Given the description of an element on the screen output the (x, y) to click on. 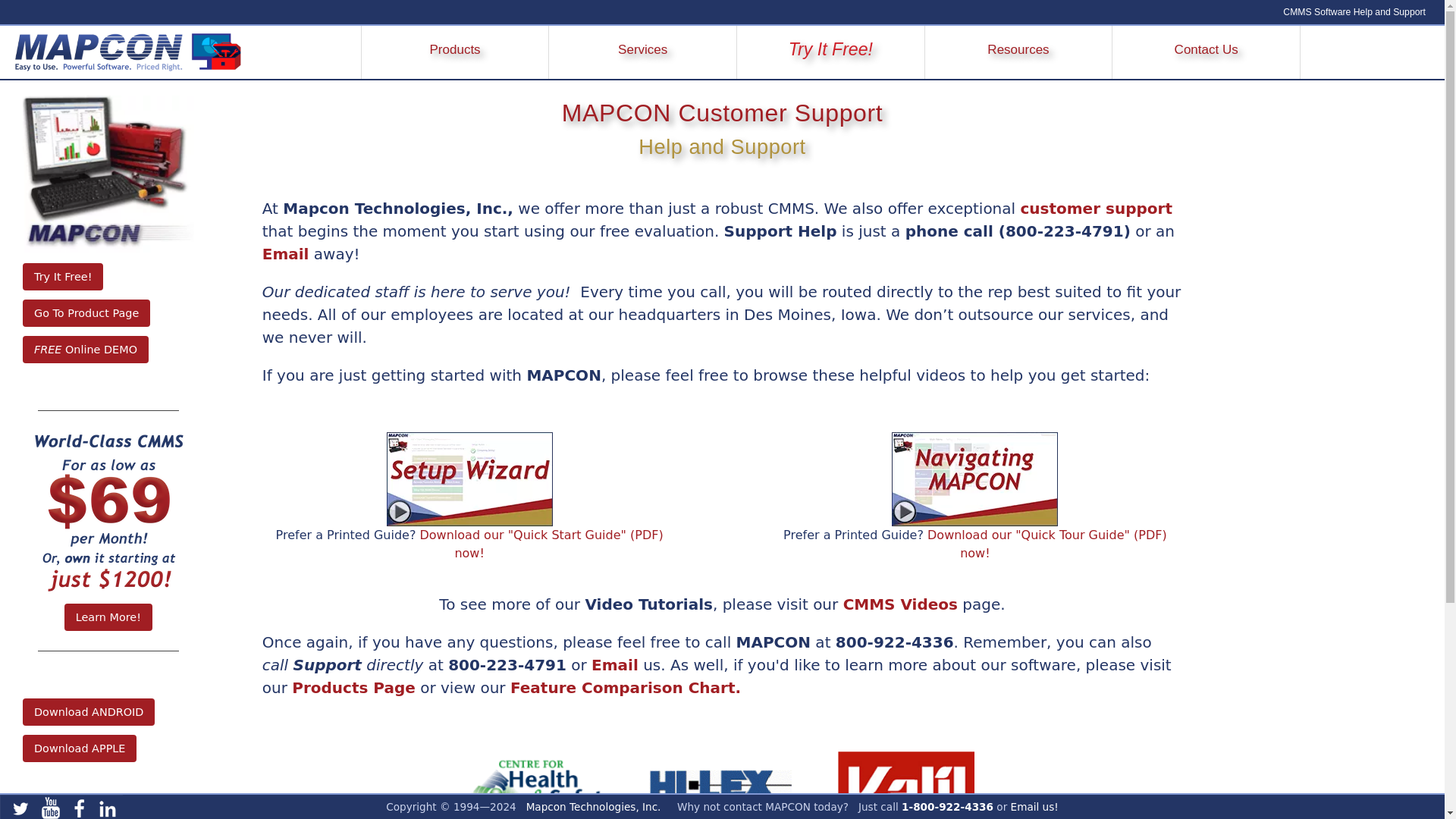
Setup Wizard (470, 479)
Quick Tour Guide (1047, 543)
products page (353, 687)
CMMS Videos (900, 604)
Navigating MAPCON (974, 479)
customer support (1096, 208)
Quick Start Guide (541, 543)
feature comparison chart (626, 687)
MAPCON Home Page (120, 51)
